Given the description of an element on the screen output the (x, y) to click on. 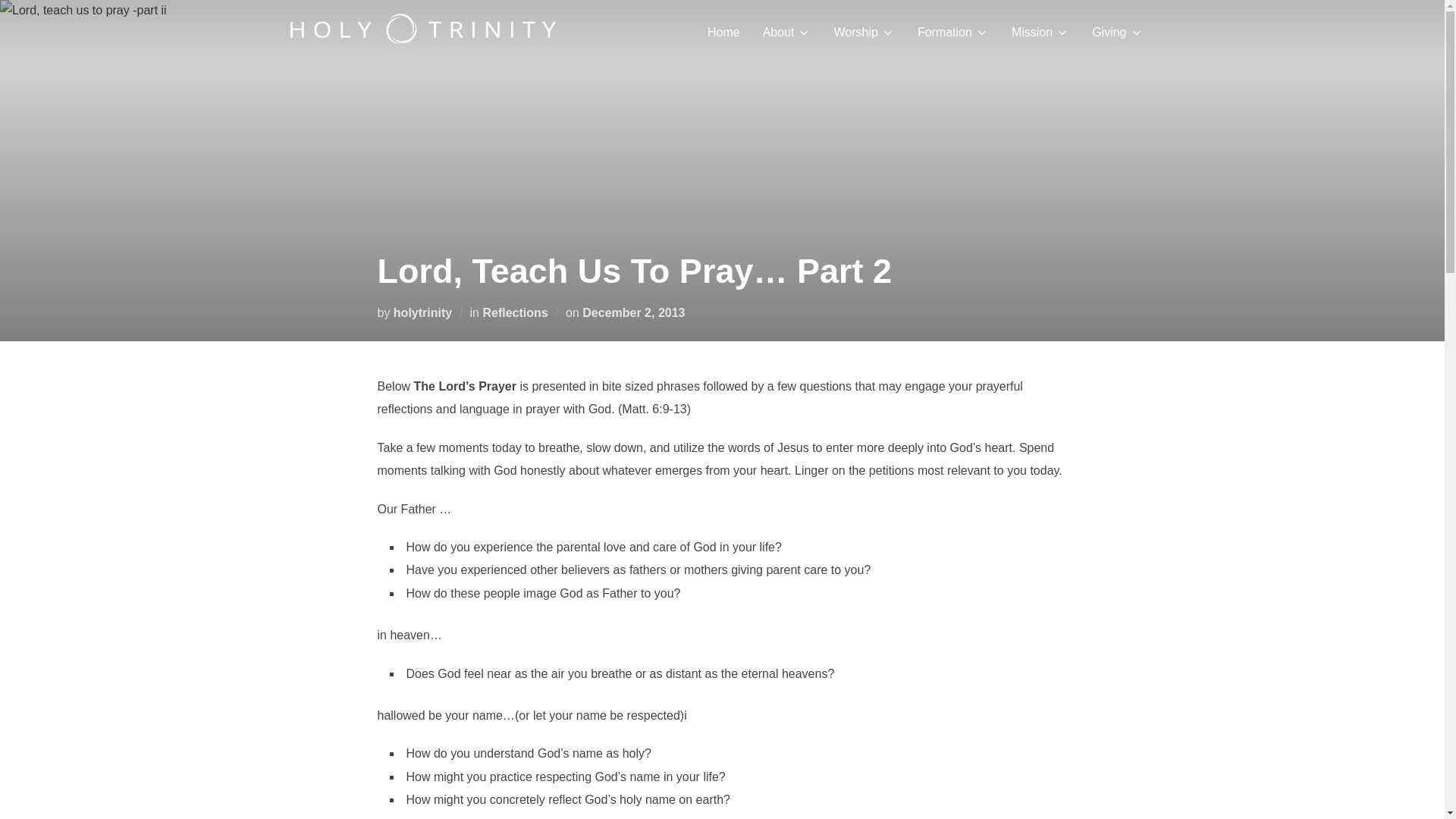
Formation (952, 32)
Home (723, 32)
About (786, 32)
Worship (862, 32)
